Given the description of an element on the screen output the (x, y) to click on. 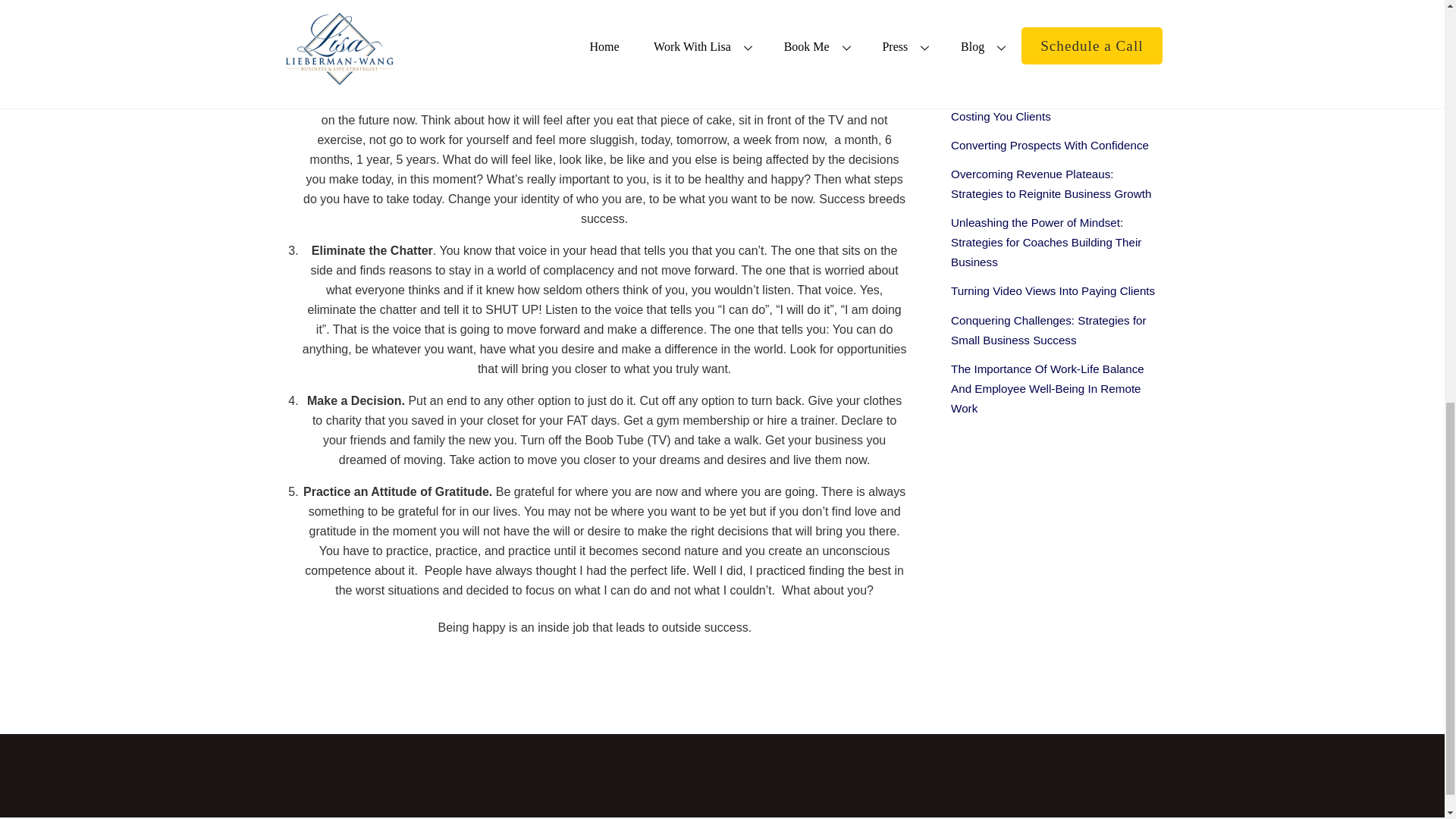
Converting Prospects With Confidence (1049, 144)
Time is Money: 12 Timewasters That Are Costing You Clients (1054, 106)
10 Productivity Tips for Independent Professional (1042, 57)
